Given the description of an element on the screen output the (x, y) to click on. 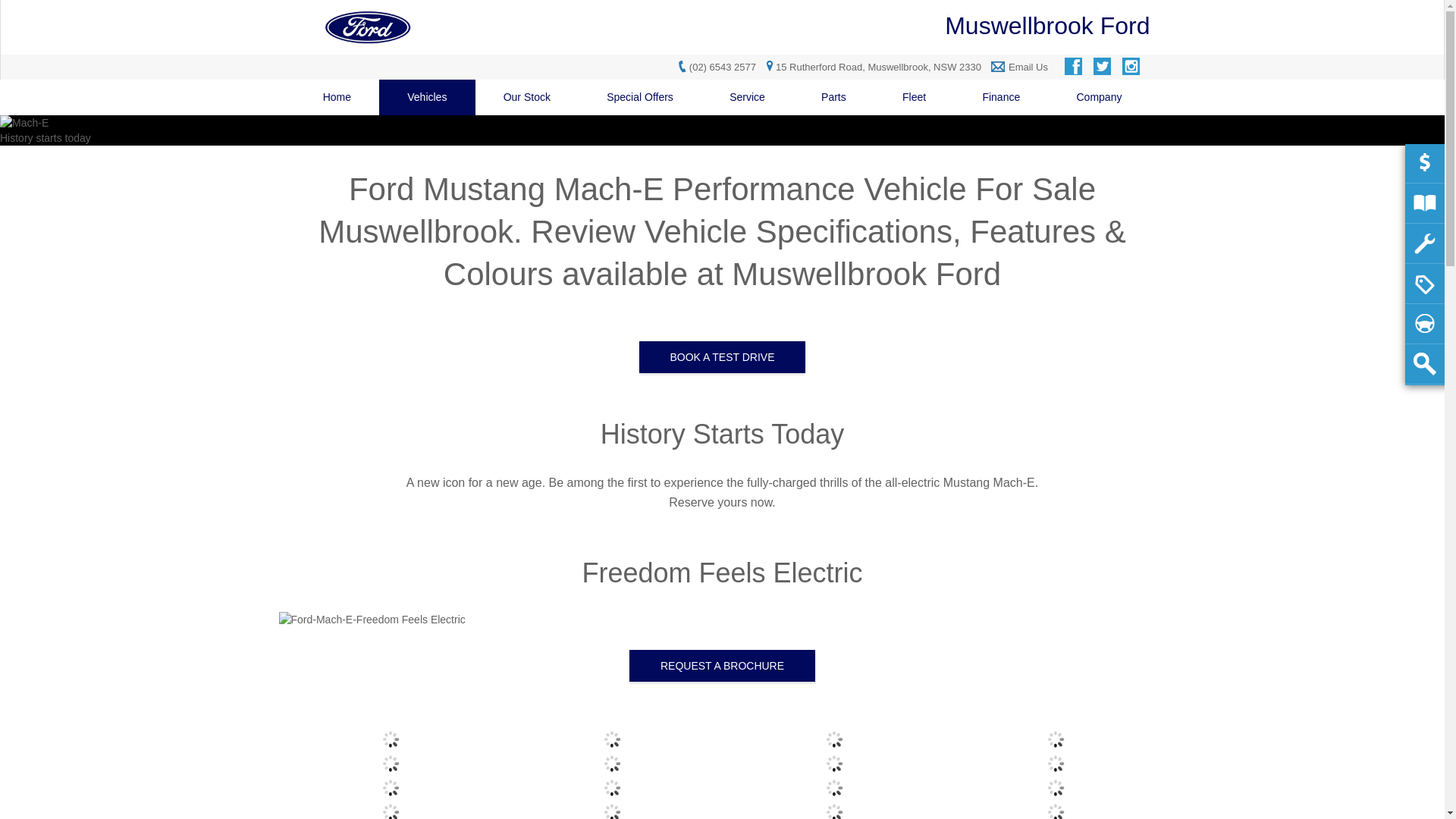
Instagram Element type: text (1132, 66)
Fleet Element type: text (913, 97)
15 Rutherford Road, Muswellbrook, NSW 2330 Element type: text (871, 66)
Email Us Element type: text (1028, 66)
Service Element type: text (747, 97)
Vehicles Element type: text (426, 97)
Facebook Element type: text (1074, 66)
Home Element type: text (336, 97)
Company Element type: text (1098, 97)
Our Stock Element type: text (527, 97)
REQUEST A BROCHURE Element type: text (722, 665)
BOOK A TEST DRIVE Element type: text (721, 357)
(02) 6543 2577 Element type: text (722, 66)
Twitter Element type: text (1103, 66)
Special Offers Element type: text (639, 97)
Finance Element type: text (1000, 97)
Parts Element type: text (833, 97)
